Given the description of an element on the screen output the (x, y) to click on. 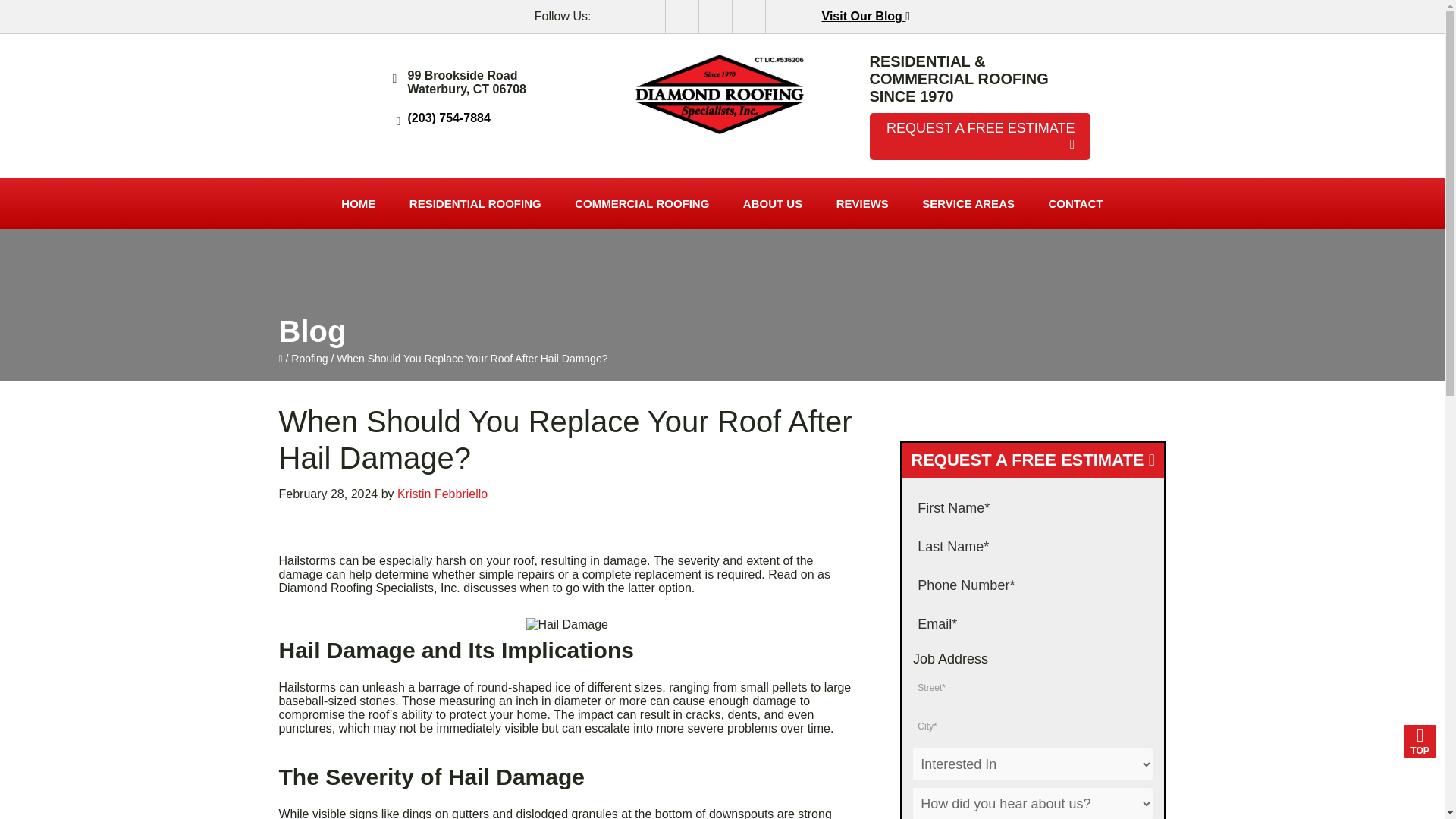
image1 (721, 101)
Facebook (614, 16)
Houzz (781, 16)
Instagram (648, 16)
COMMERCIAL ROOFING (641, 203)
REQUEST A FREE ESTIMATE (979, 135)
HOME (358, 203)
REVIEWS (862, 203)
RESIDENTIAL ROOFING (475, 203)
Google My Business (681, 16)
Youtube (715, 16)
Yelp (748, 16)
SERVICE AREAS (968, 203)
CONTACT (1075, 203)
